Given the description of an element on the screen output the (x, y) to click on. 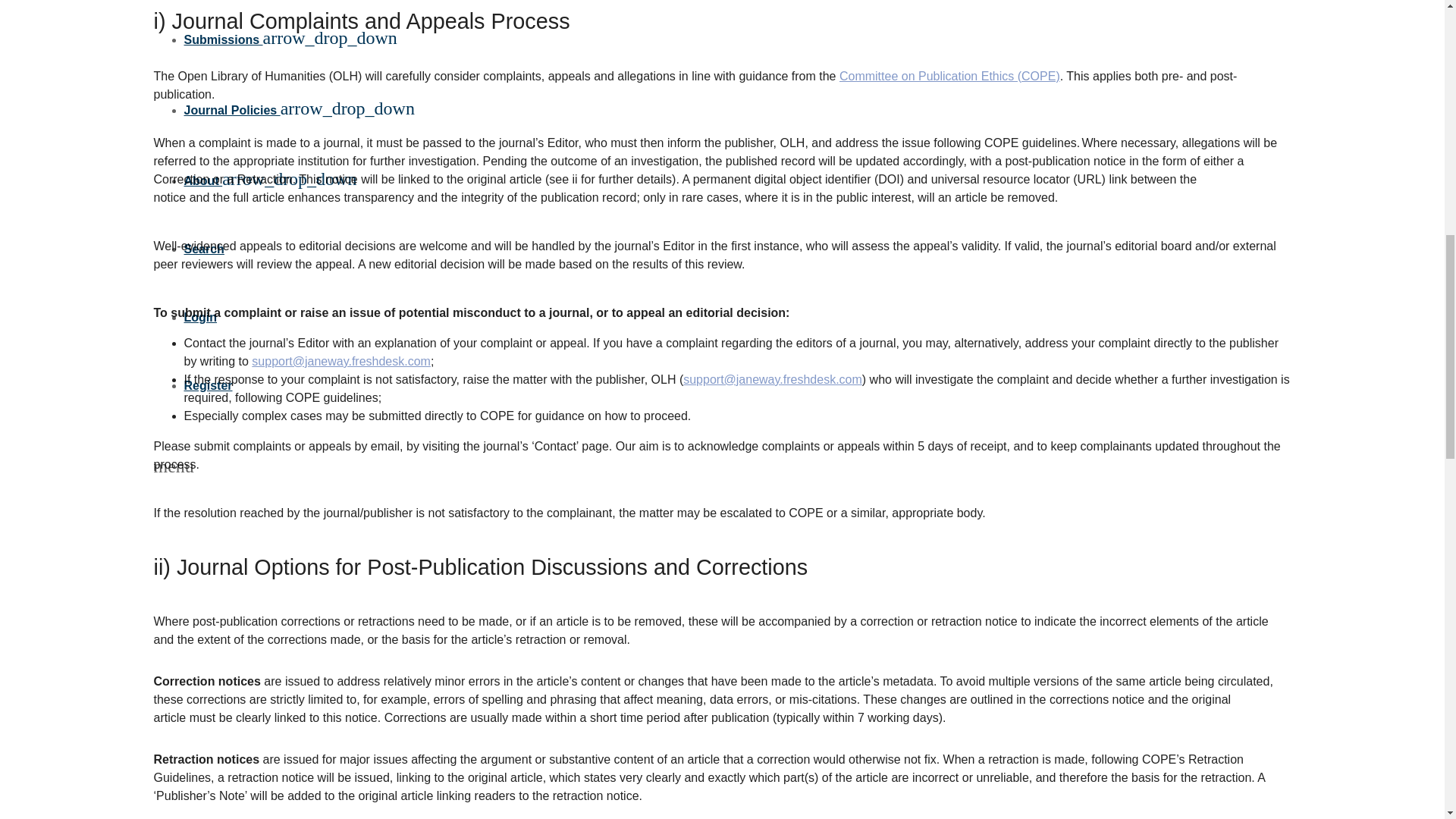
Search (203, 248)
Register (207, 385)
Login (199, 317)
menu (172, 468)
